Given the description of an element on the screen output the (x, y) to click on. 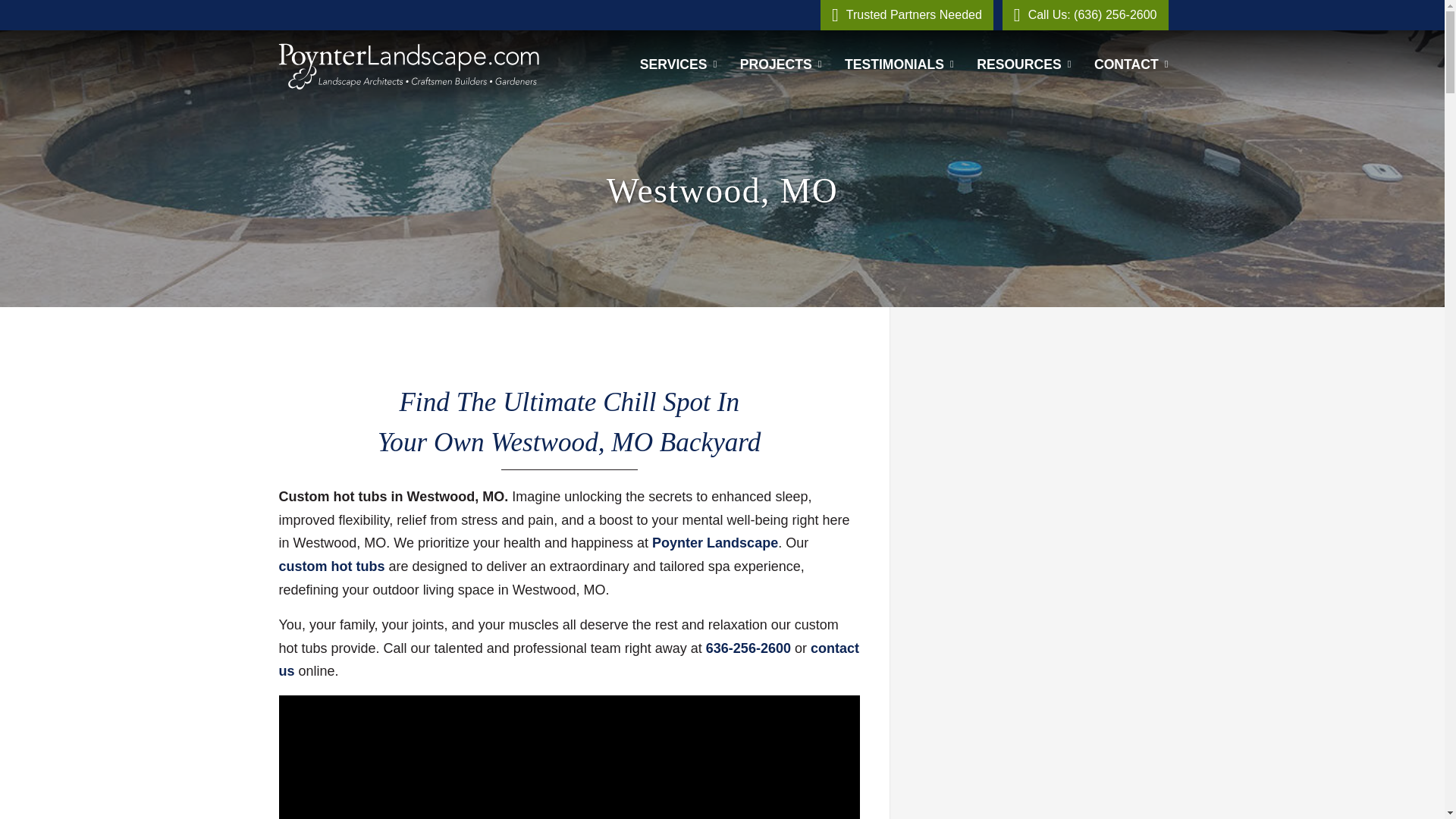
SERVICES (678, 64)
Trusted Partners Needed (906, 15)
PROJECTS (780, 64)
